Given the description of an element on the screen output the (x, y) to click on. 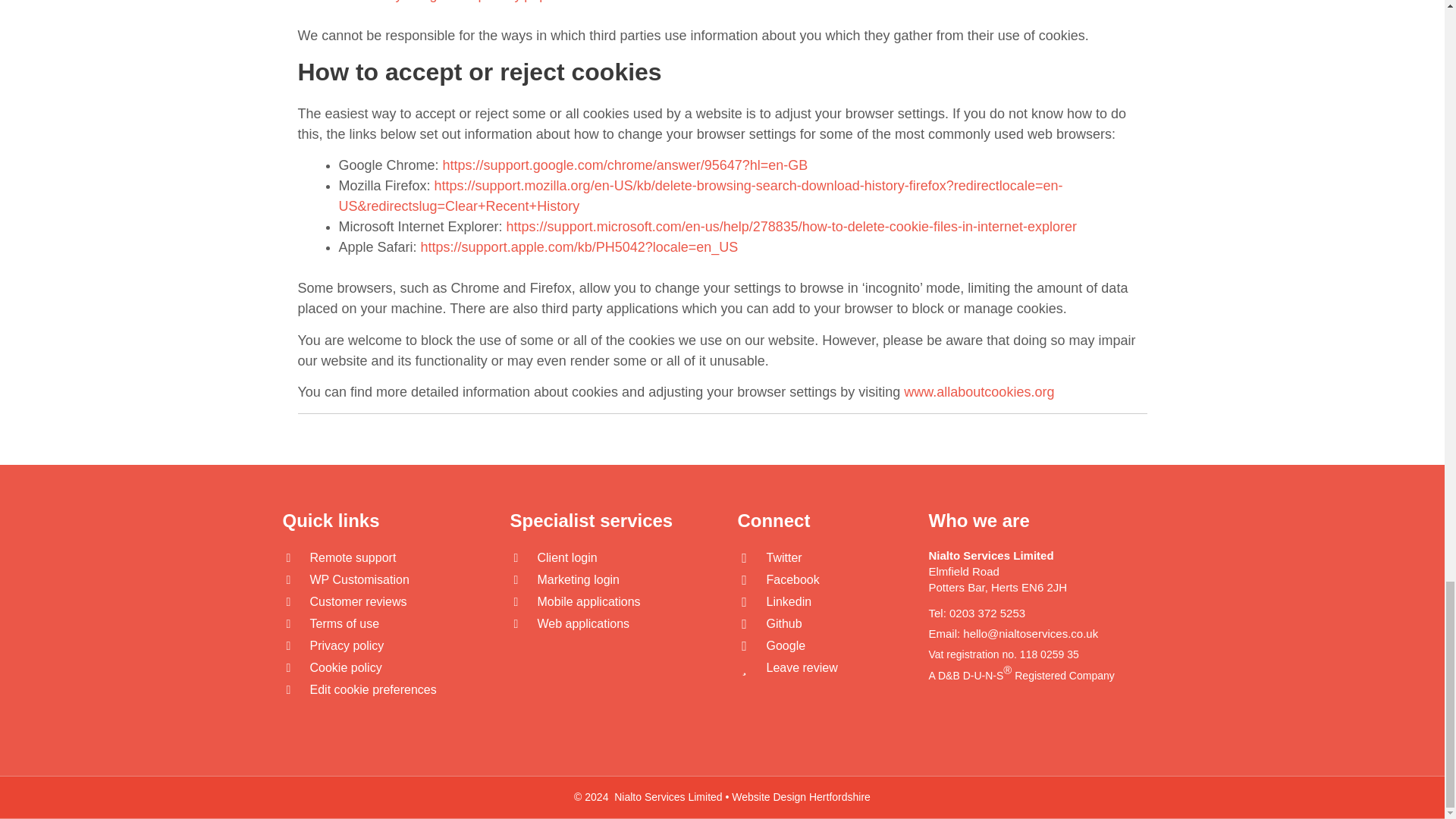
Cookie policy (344, 667)
Terms of use (343, 623)
Client login (566, 557)
Remote support (352, 557)
Edit cookie preferences (371, 689)
Web applications (582, 623)
Privacy policy (346, 645)
Facebook (791, 579)
Marketing login (578, 579)
Linkedin (787, 601)
